Given the description of an element on the screen output the (x, y) to click on. 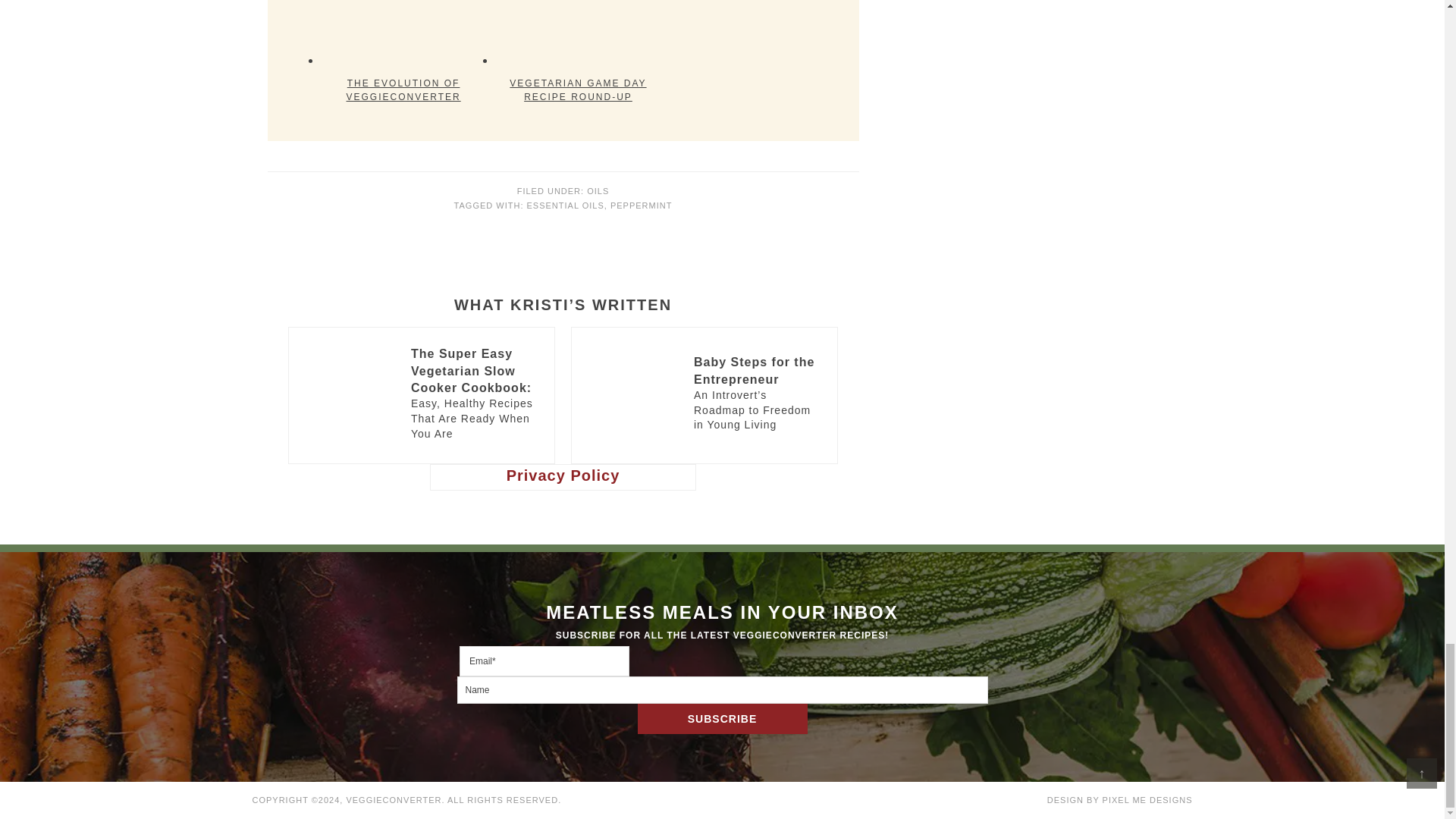
The Evolution of VeggieConverter (403, 33)
Vegetarian Game Day Recipe Round-up (578, 33)
